Given the description of an element on the screen output the (x, y) to click on. 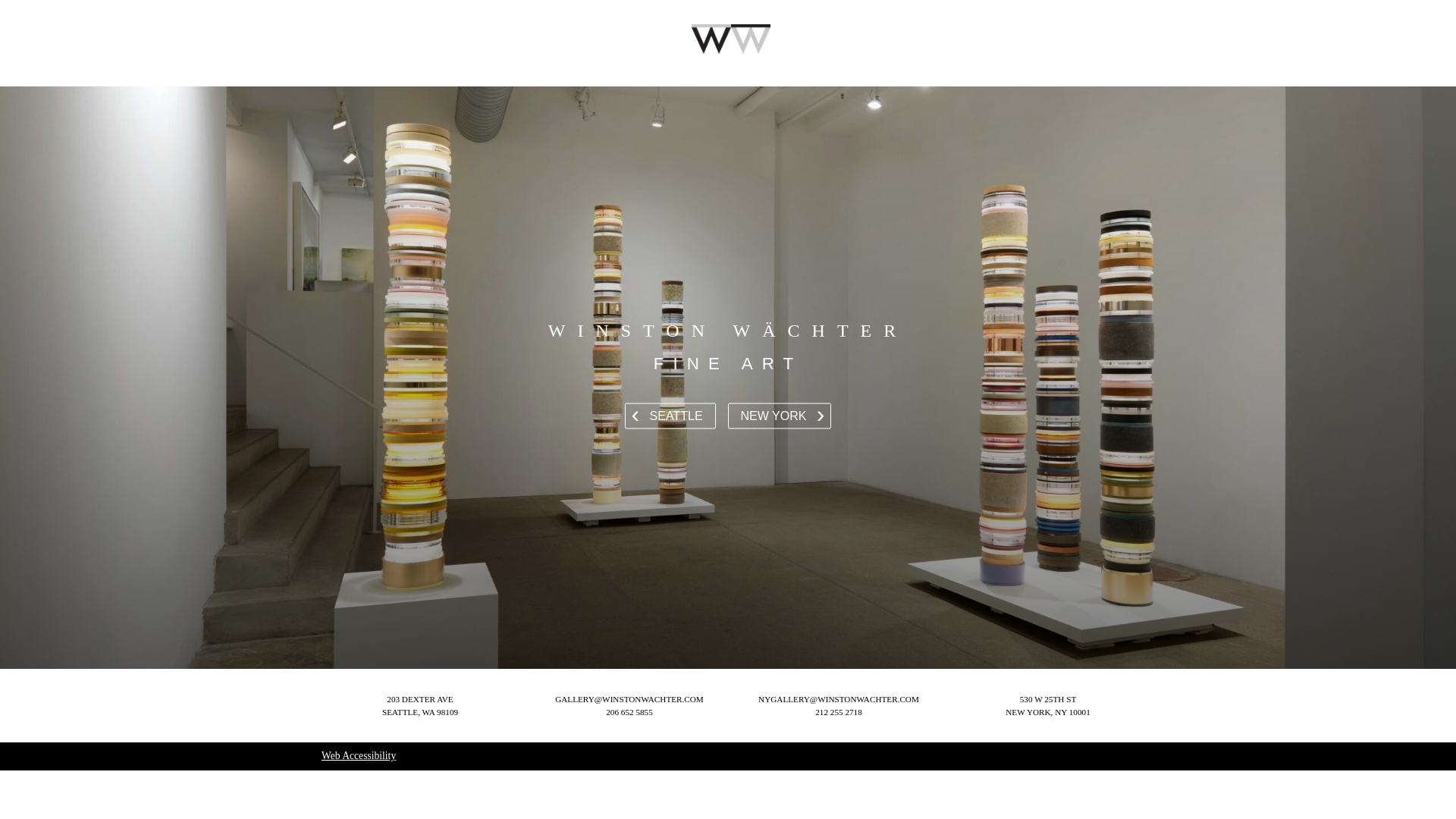
212 255 2718 (838, 711)
206 652 5855 (628, 711)
Web Accessibility (358, 755)
NEW YORK (1047, 705)
SEATTLE (779, 415)
